Given the description of an element on the screen output the (x, y) to click on. 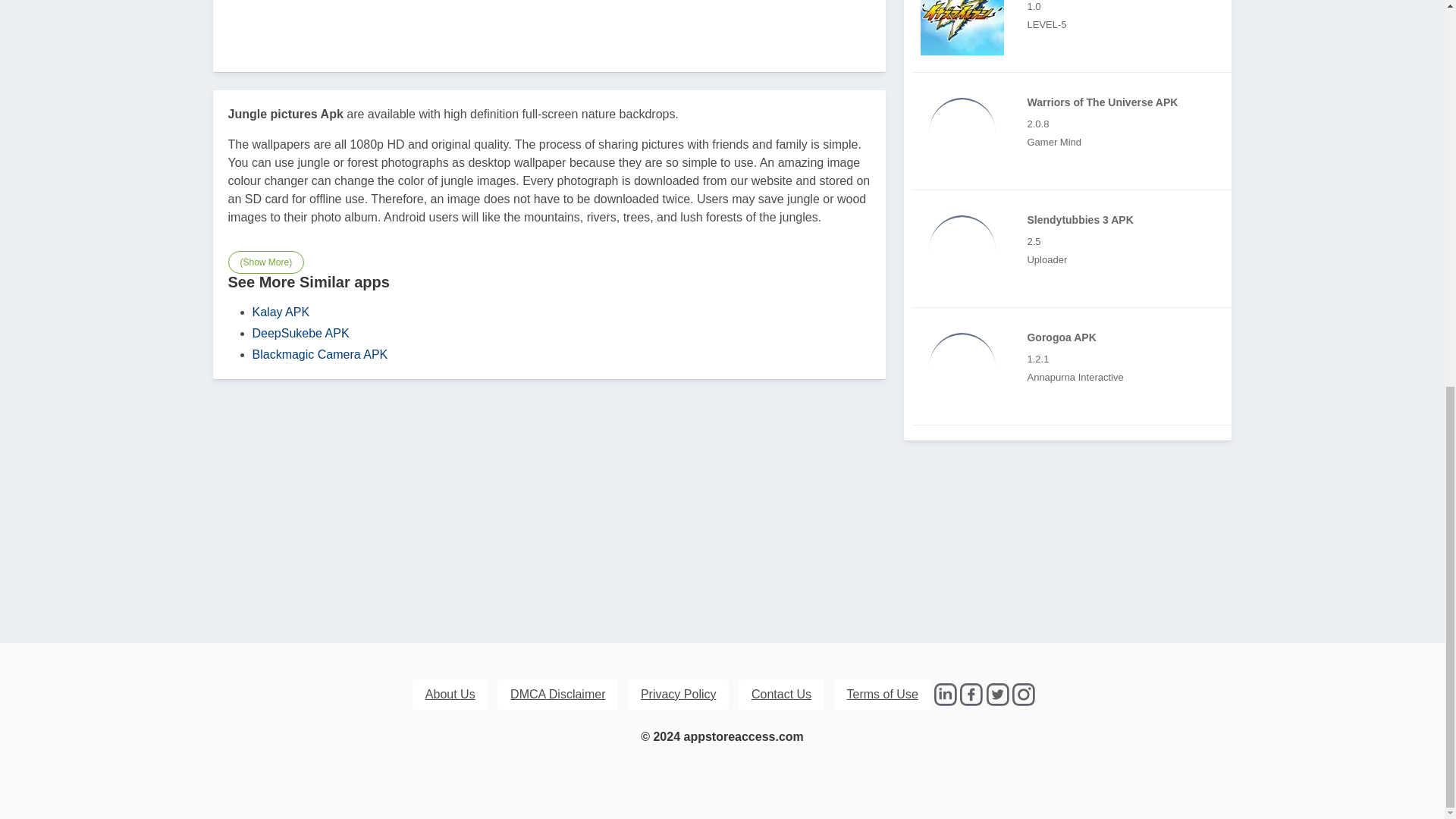
Kalay APK (279, 310)
DeepSukebe APK (300, 332)
Advertisement (548, 20)
Blackmagic Camera APK (319, 353)
